Given the description of an element on the screen output the (x, y) to click on. 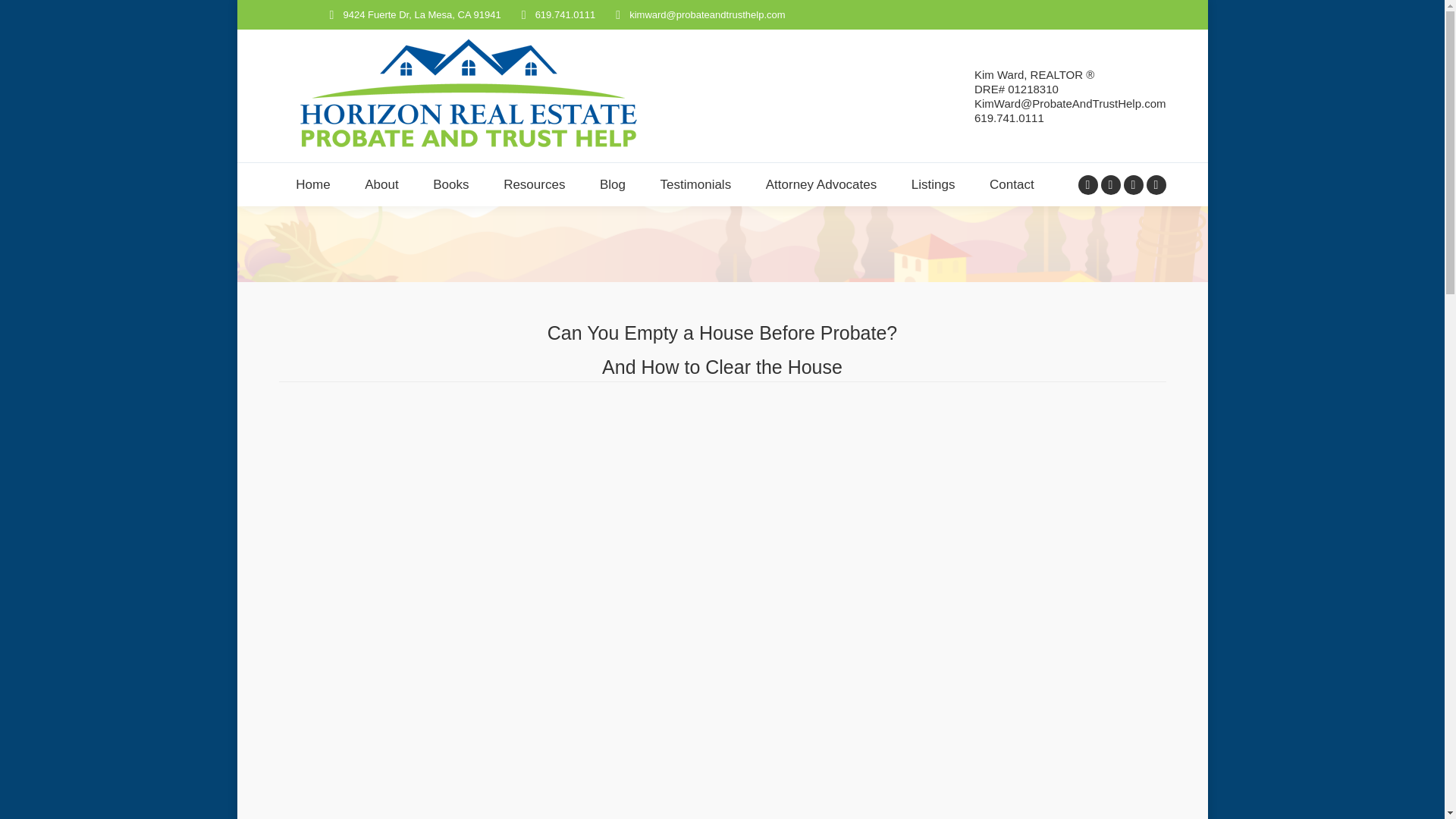
Testimonials (695, 184)
Linkedin page opens in new window (1133, 184)
X page opens in new window (1110, 184)
Books (450, 184)
X page opens in new window (1110, 184)
YouTube page opens in new window (1156, 184)
Facebook page opens in new window (1087, 184)
Contact (1011, 184)
Resources (533, 184)
About (381, 184)
Blog (612, 184)
Home (313, 184)
Listings (933, 184)
Attorney Advocates (820, 184)
Linkedin page opens in new window (1133, 184)
